Given the description of an element on the screen output the (x, y) to click on. 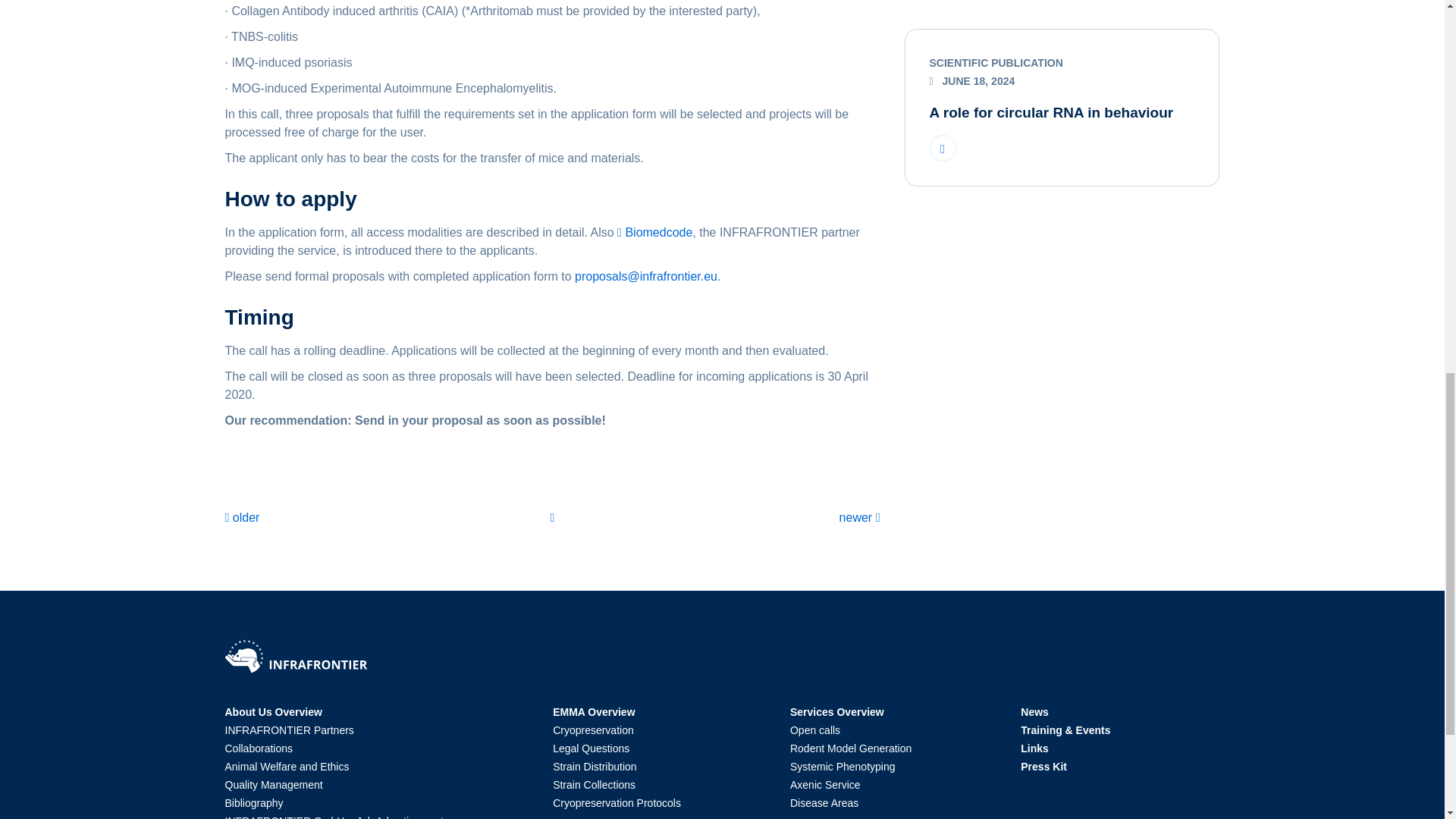
newer (860, 516)
Biomedcode (655, 232)
older (242, 516)
